Given the description of an element on the screen output the (x, y) to click on. 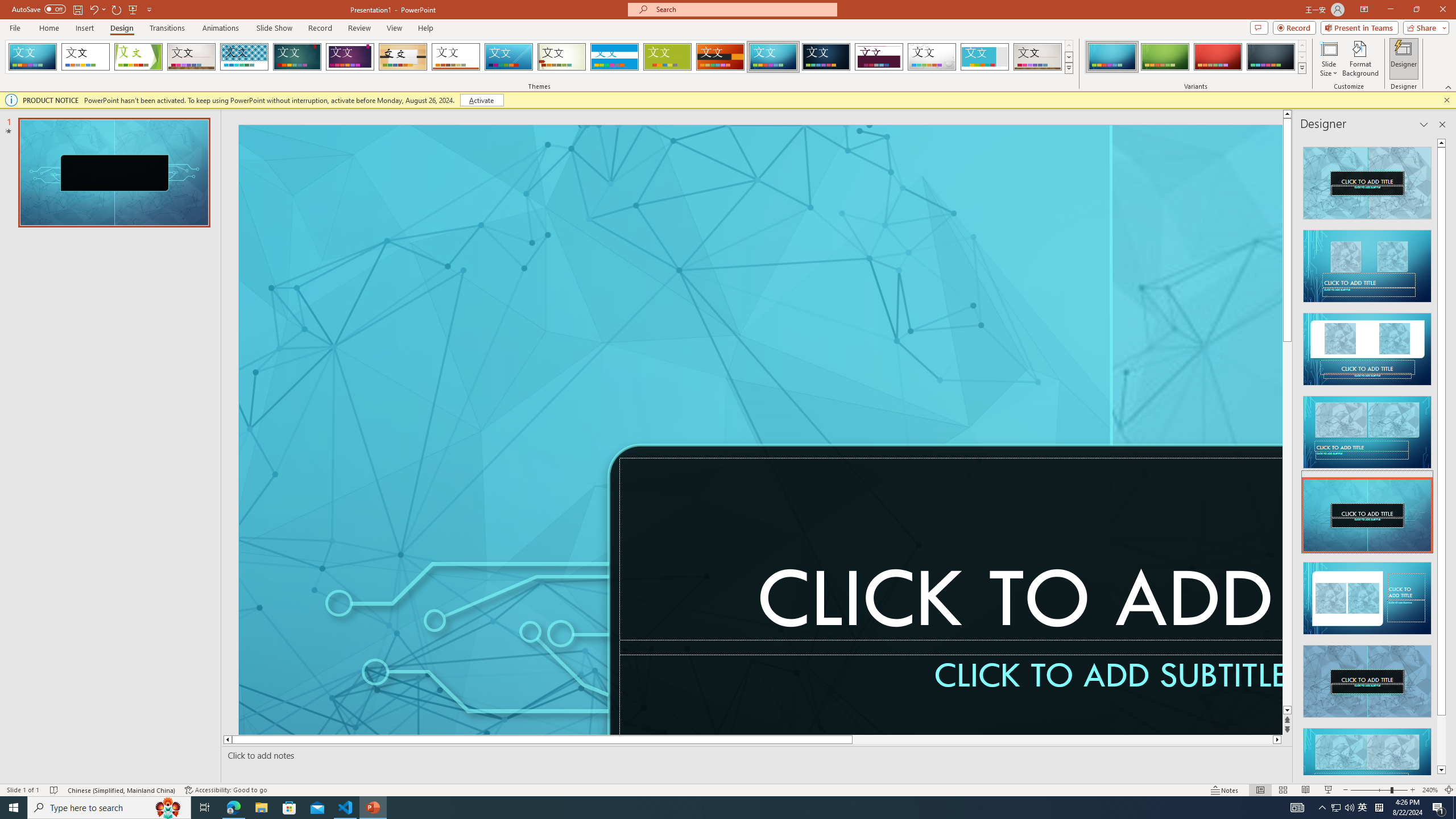
Slice (508, 56)
Close this message (1446, 99)
Retrospect (455, 56)
Office Theme (85, 56)
Damask (826, 56)
An abstract genetic concept (1197, 429)
Circuit Variant 1 (1112, 56)
